Given the description of an element on the screen output the (x, y) to click on. 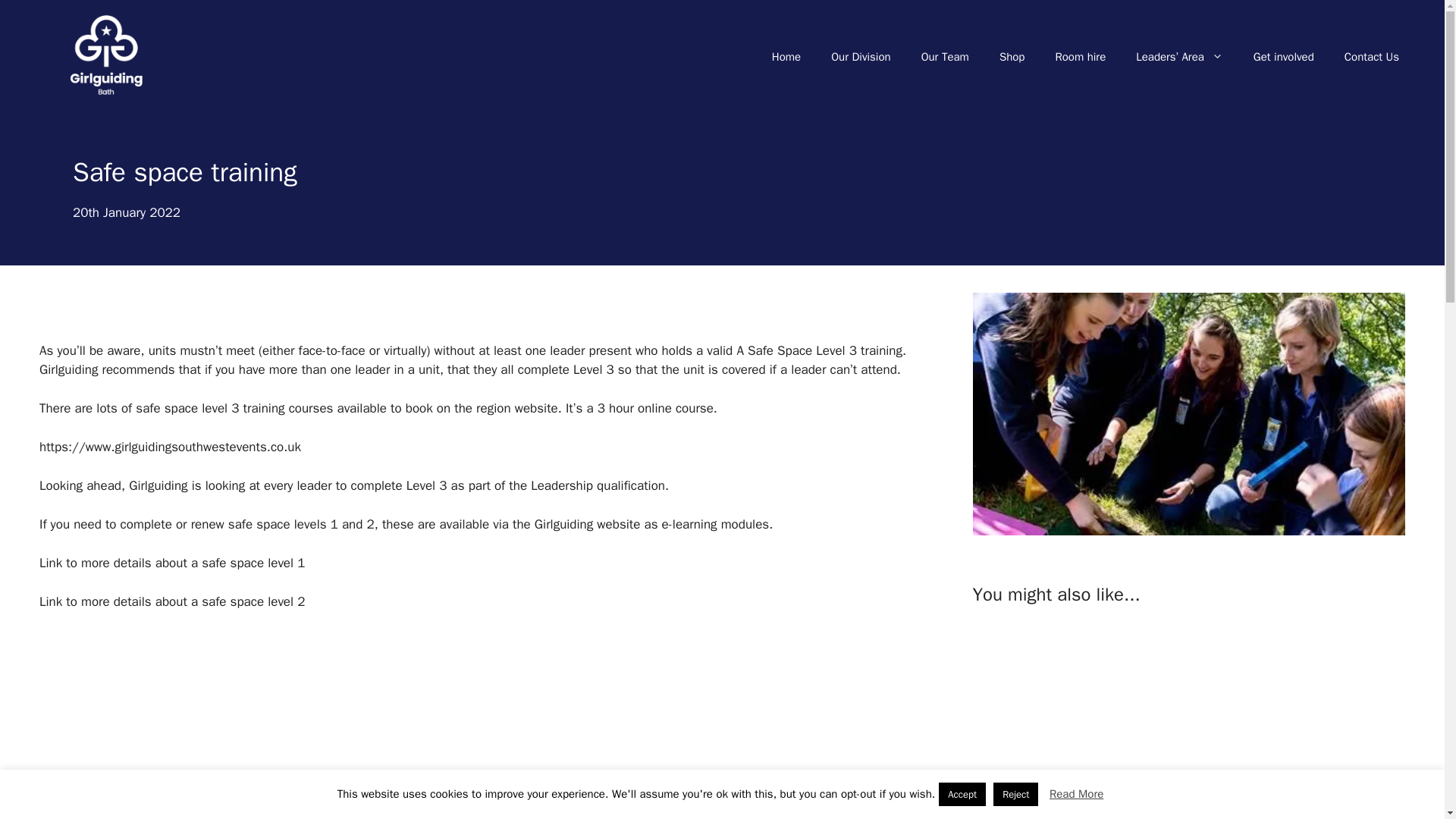
YouTube video player (1184, 721)
Home (786, 56)
Reject (1015, 793)
Our Team (944, 56)
Accept (962, 793)
Link to more details about a safe space level 2 (171, 601)
Read More (1076, 794)
Link to more details about a safe space level 1 (171, 562)
Shop (1012, 56)
Get involved (1284, 56)
Our Division (860, 56)
